Given the description of an element on the screen output the (x, y) to click on. 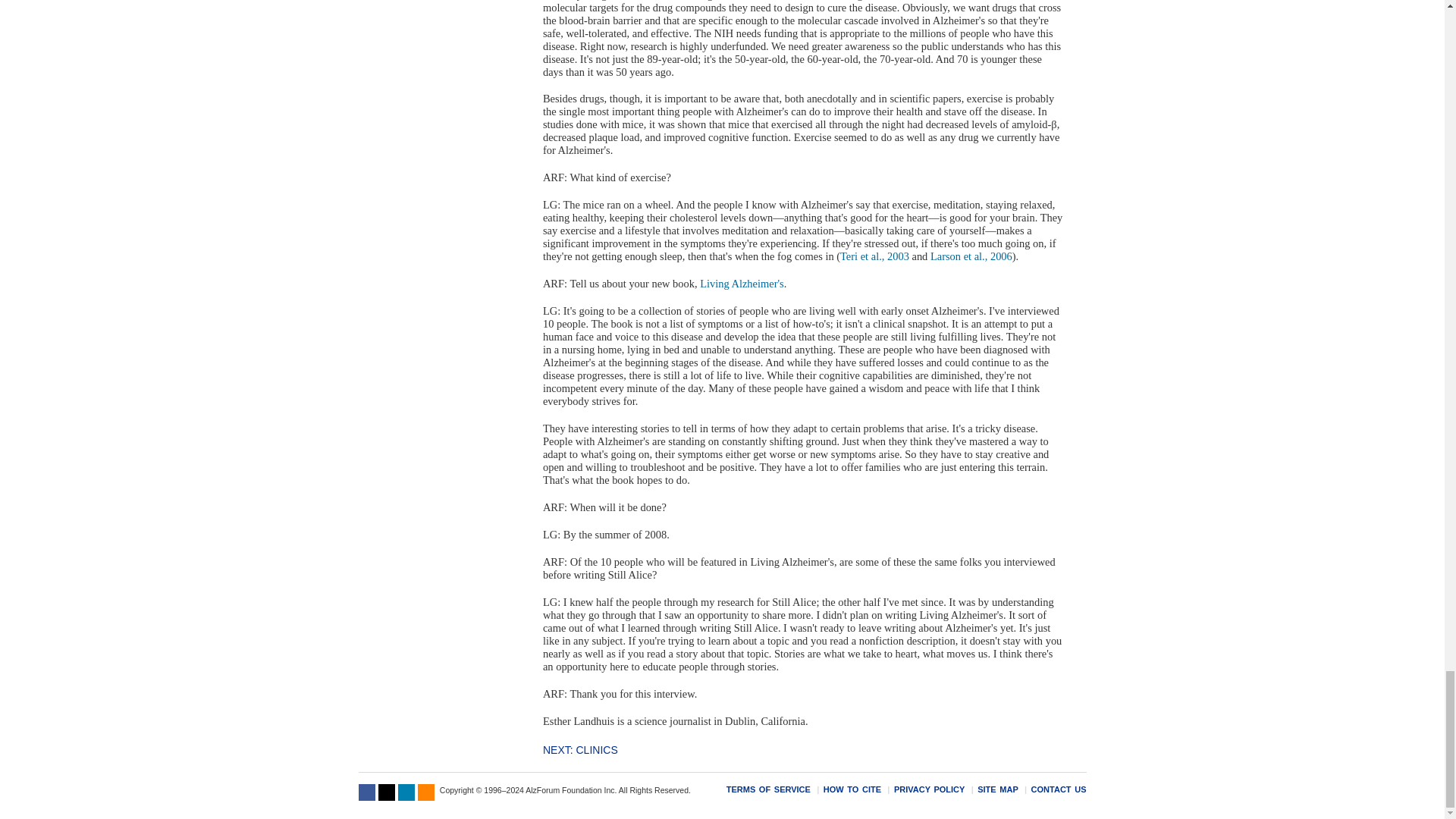
Go to next page (580, 749)
Teri et al., 2003 (874, 256)
Larson et al., 2006 (970, 256)
NEXT: CLINICS (580, 749)
Living Alzheimer's (741, 283)
